Given the description of an element on the screen output the (x, y) to click on. 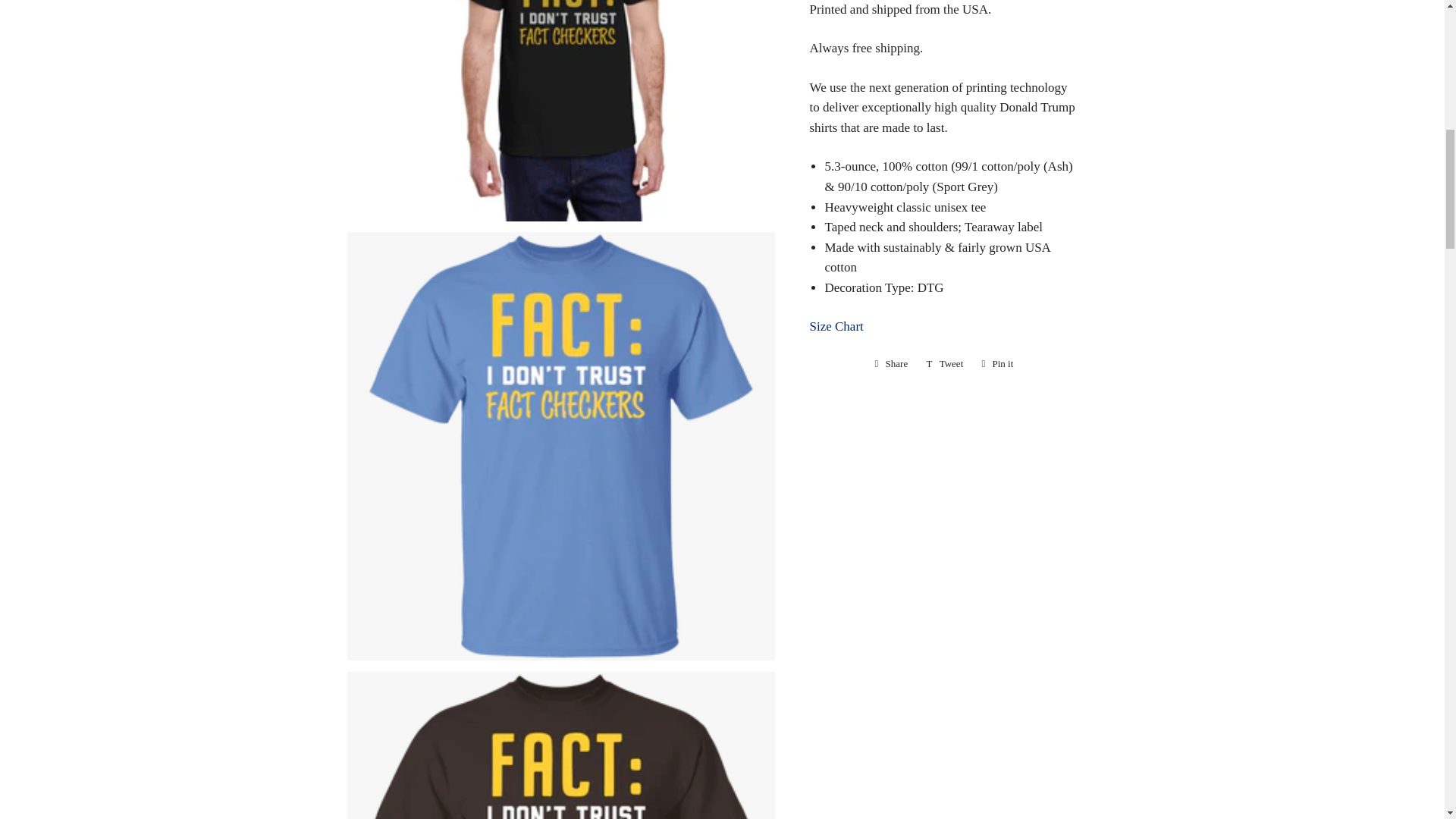
Pin on Pinterest (997, 363)
Tweet on Twitter (997, 363)
Share on Facebook (944, 363)
Size Chart (891, 363)
